Given the description of an element on the screen output the (x, y) to click on. 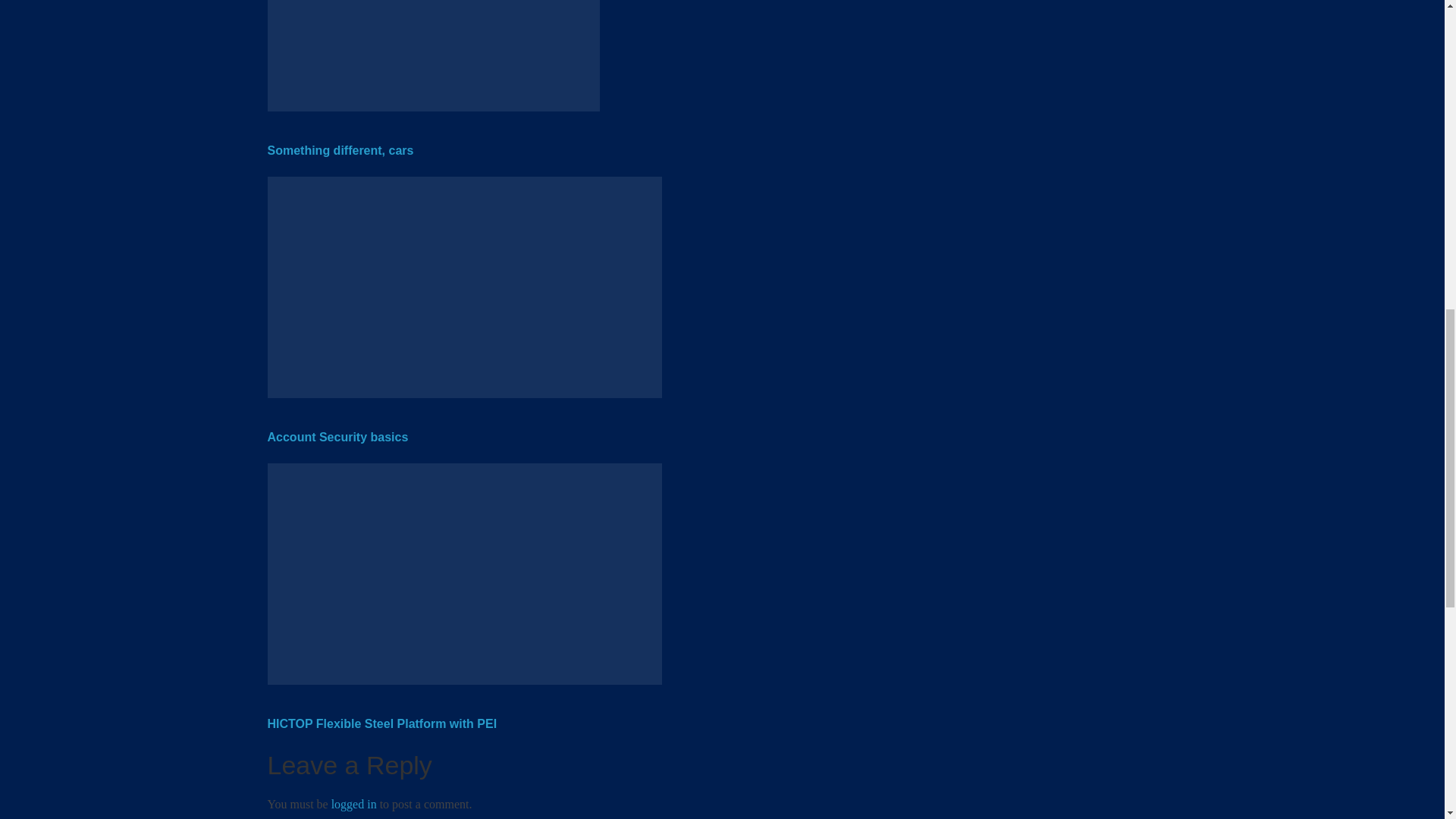
HICTOP Flexible Steel Platform with PEI (381, 723)
Something different, cars (339, 150)
logged in (354, 803)
Account Security basics (336, 436)
